Given the description of an element on the screen output the (x, y) to click on. 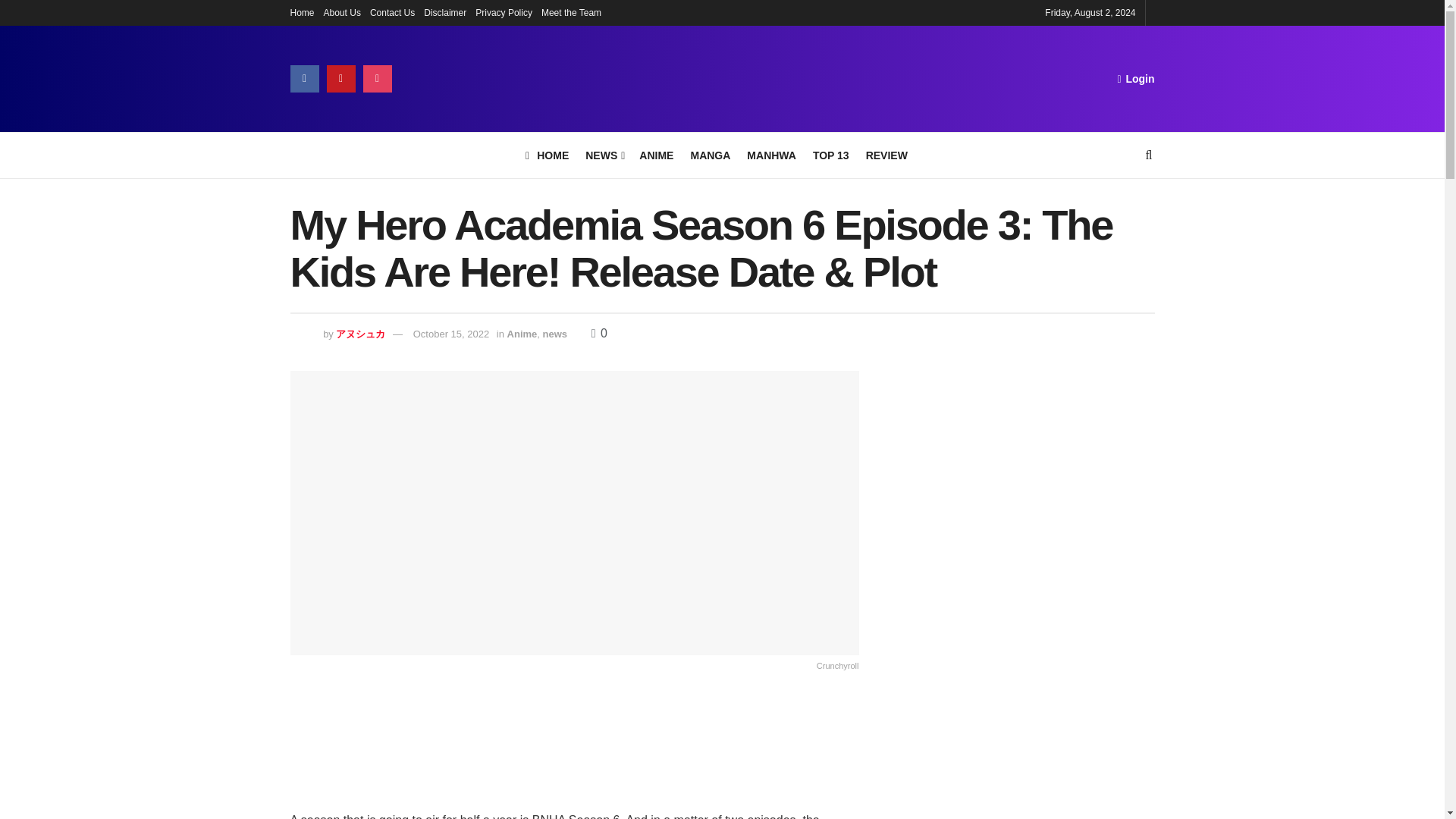
MANGA (710, 155)
Login (1135, 78)
HOME (547, 155)
Disclaimer (444, 12)
ANIME (655, 155)
Privacy Policy (504, 12)
Contact Us (391, 12)
Meet the Team (571, 12)
NEWS (604, 155)
TOP 13 (830, 155)
